Given the description of an element on the screen output the (x, y) to click on. 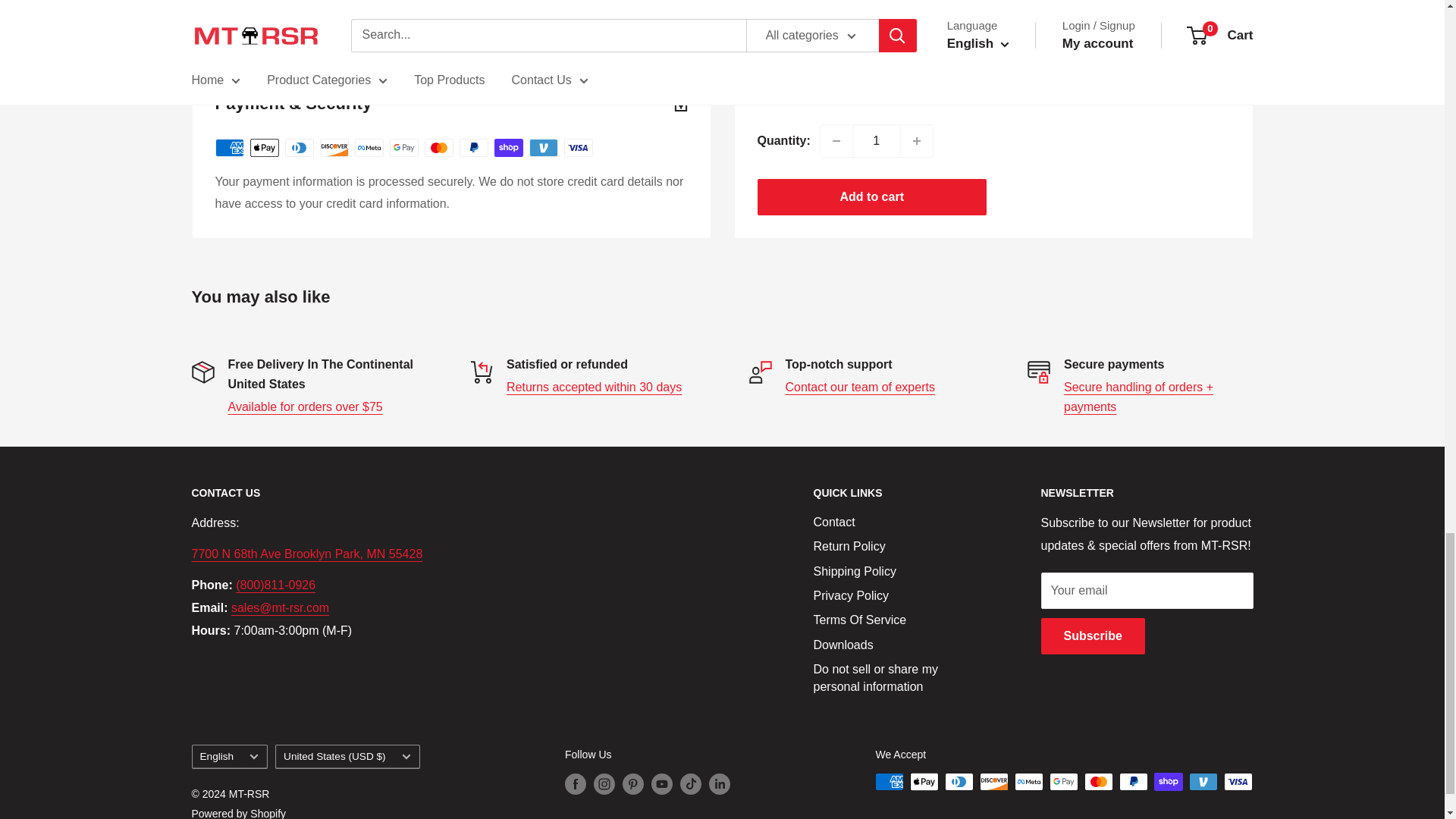
Contact (860, 386)
Shipping Policy (304, 406)
7700 N 68th Ave Brooklyn Park, MN 55428 (306, 553)
Return Policy (593, 386)
Privacy Policy (1138, 396)
